Given the description of an element on the screen output the (x, y) to click on. 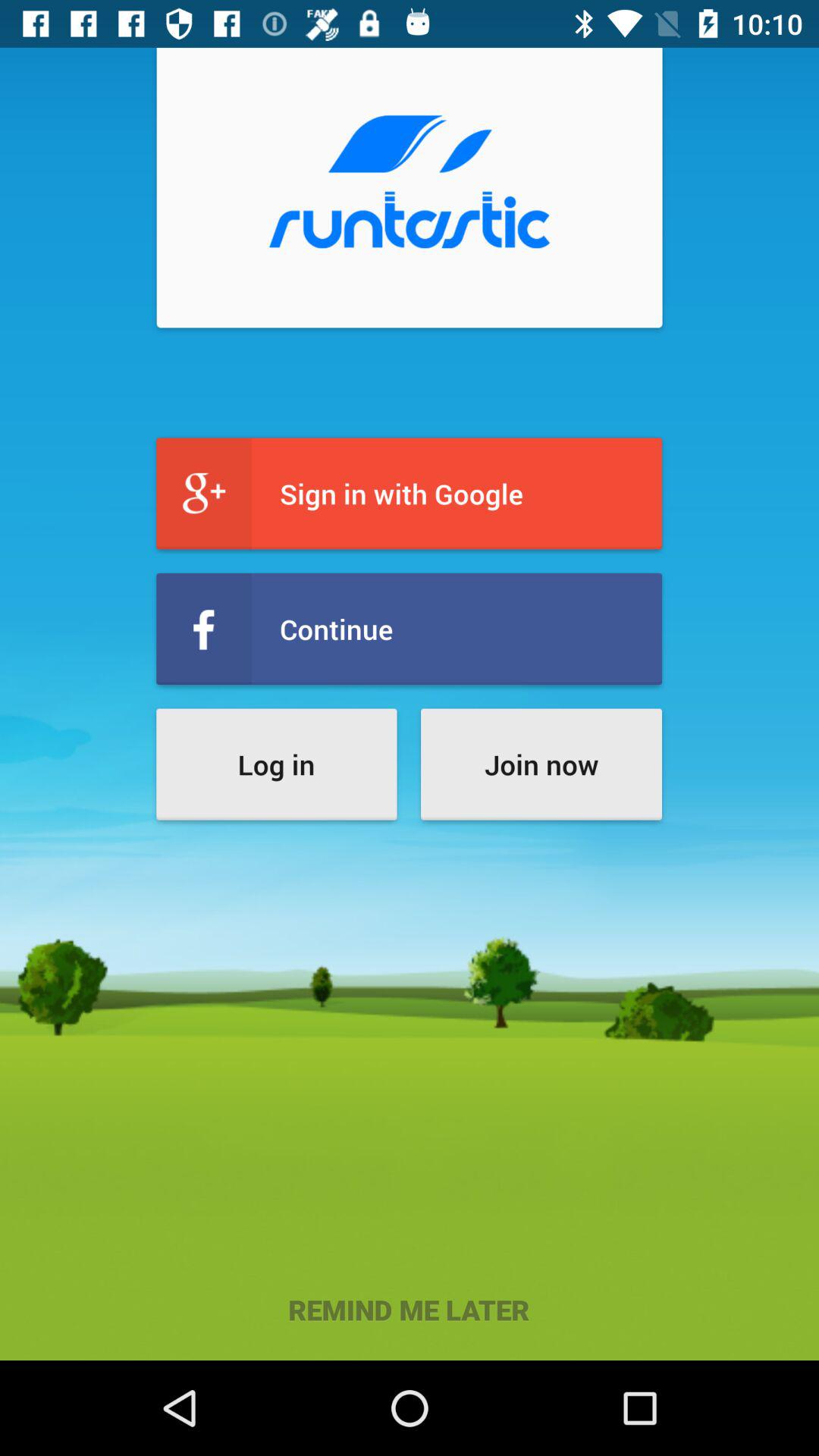
scroll until the log in item (276, 764)
